Given the description of an element on the screen output the (x, y) to click on. 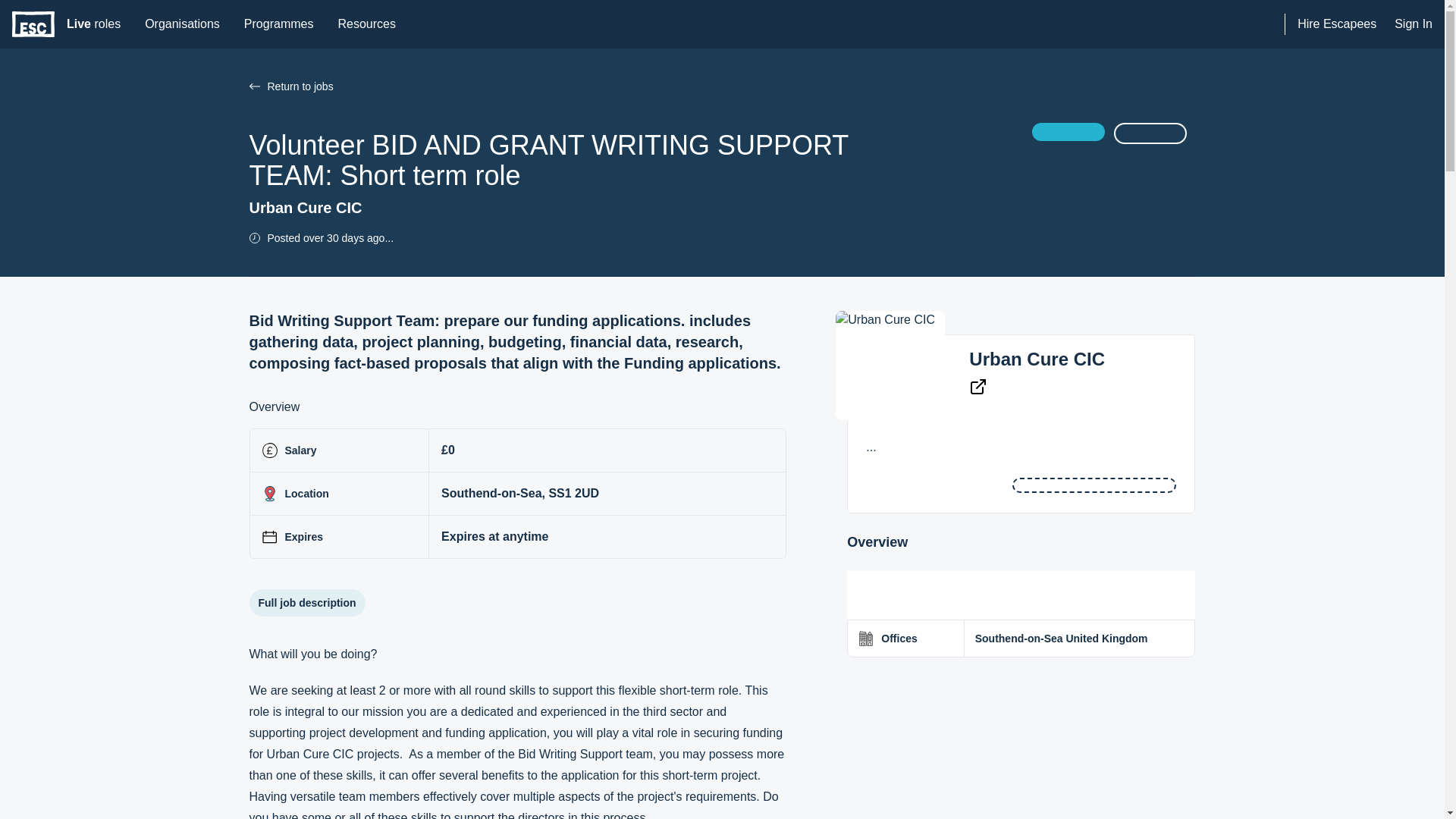
Hire Escapees (1336, 24)
Programmes (93, 24)
Return to jobs (278, 24)
Urban Cure CIC (253, 86)
Escape the City (1037, 358)
Organisations (33, 24)
Resources (181, 24)
Return to jobs (365, 24)
